Given the description of an element on the screen output the (x, y) to click on. 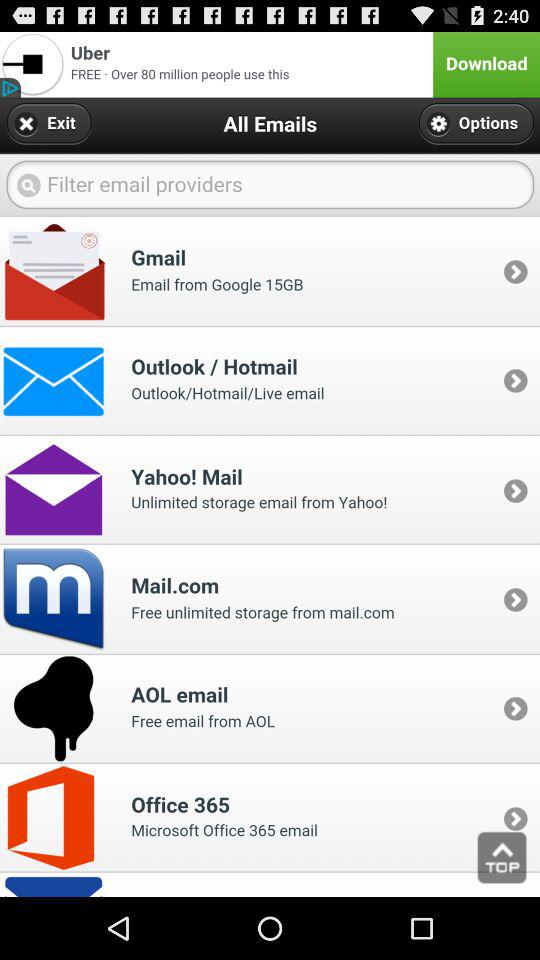
menu bar (270, 64)
